Given the description of an element on the screen output the (x, y) to click on. 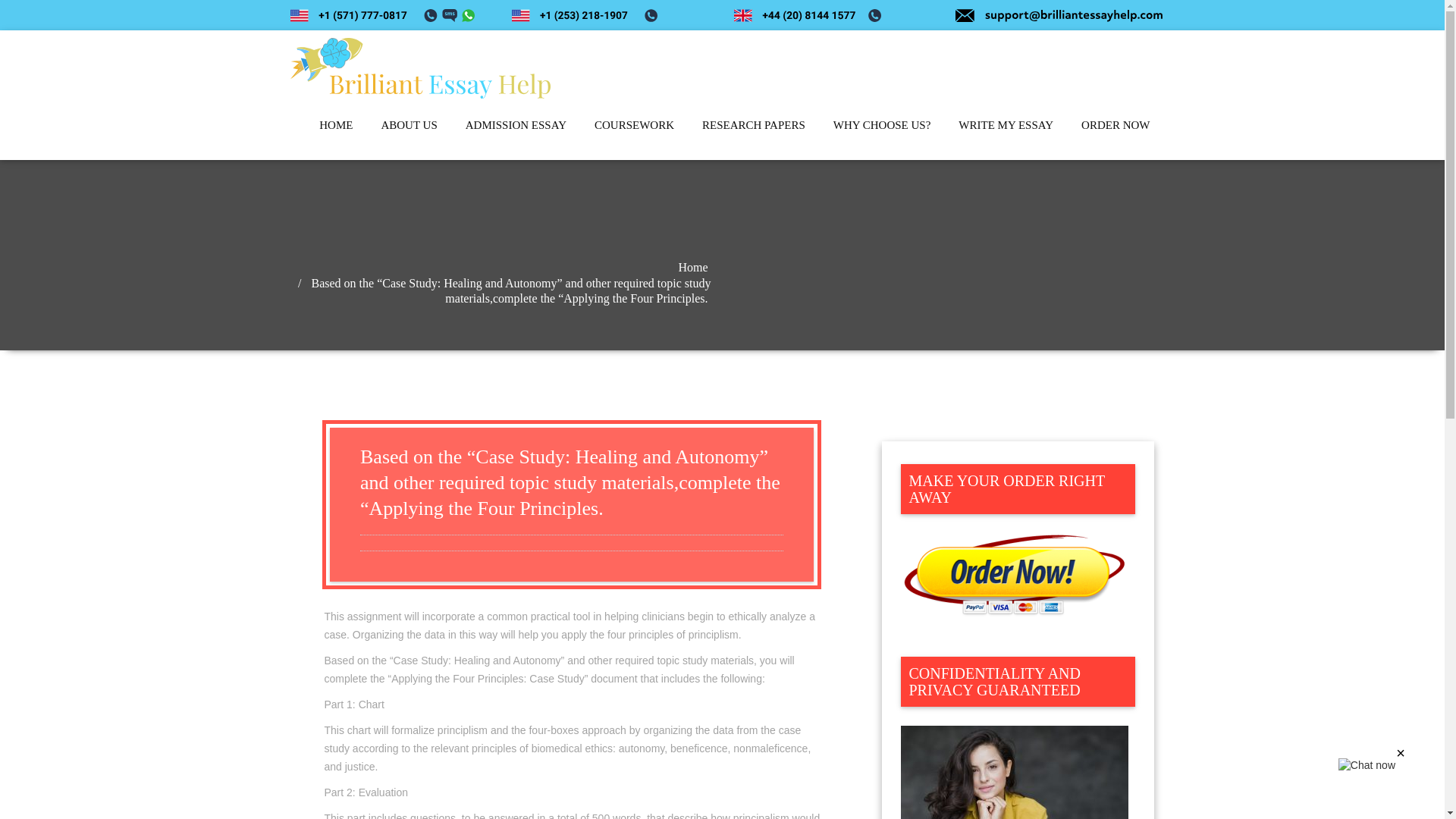
ABOUT US (408, 124)
ADMISSION ESSAY (515, 124)
Home (826, 267)
COURSEWORK (633, 124)
HOME (336, 124)
Brilliant Essay Help (400, 121)
RESEARCH PAPERS (753, 124)
ORDER NOW (1114, 124)
WHY CHOOSE US? (882, 124)
WRITE MY ESSAY (1005, 124)
